Given the description of an element on the screen output the (x, y) to click on. 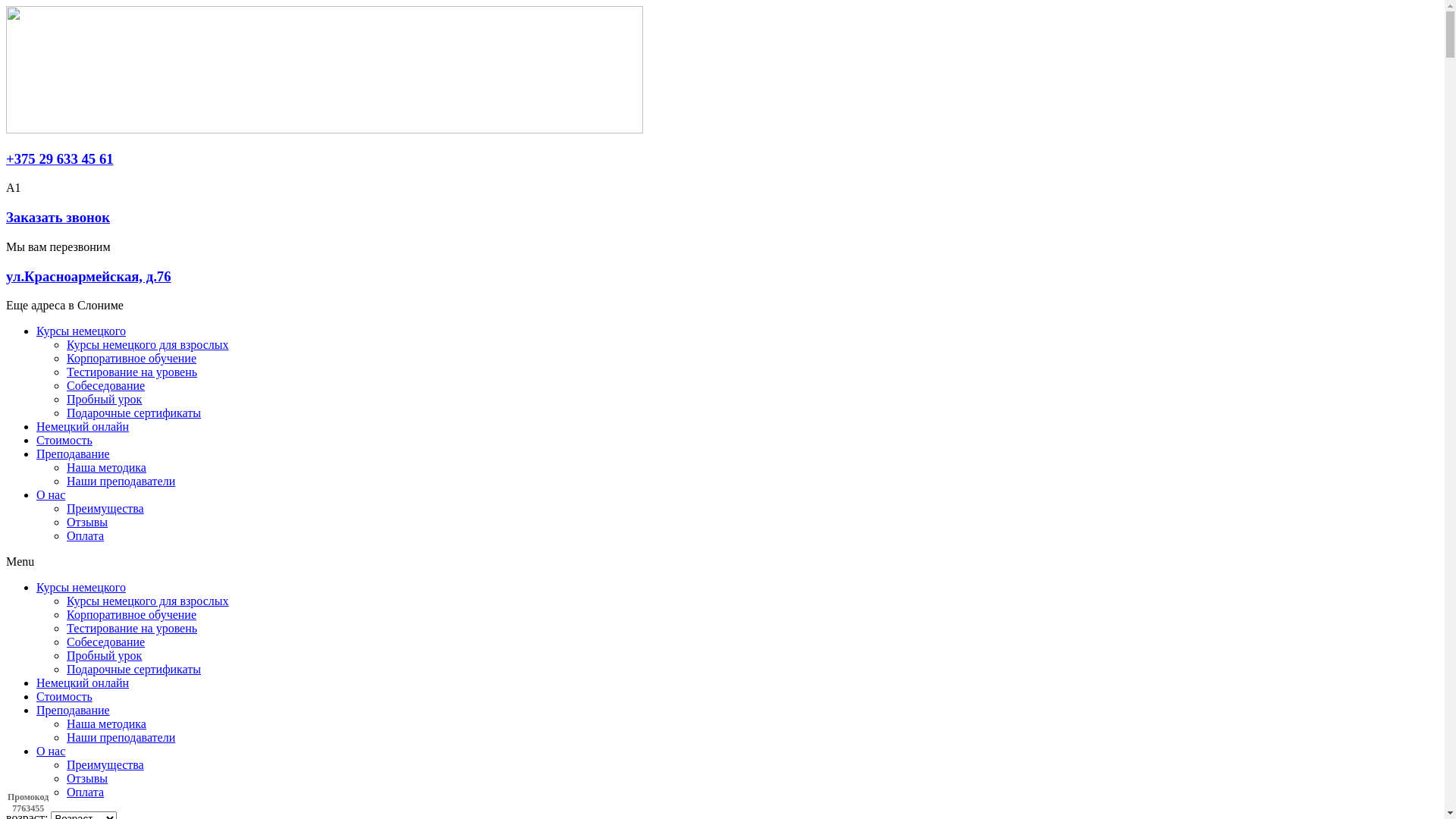
+375 29 633 45 61 Element type: text (59, 158)
